Given the description of an element on the screen output the (x, y) to click on. 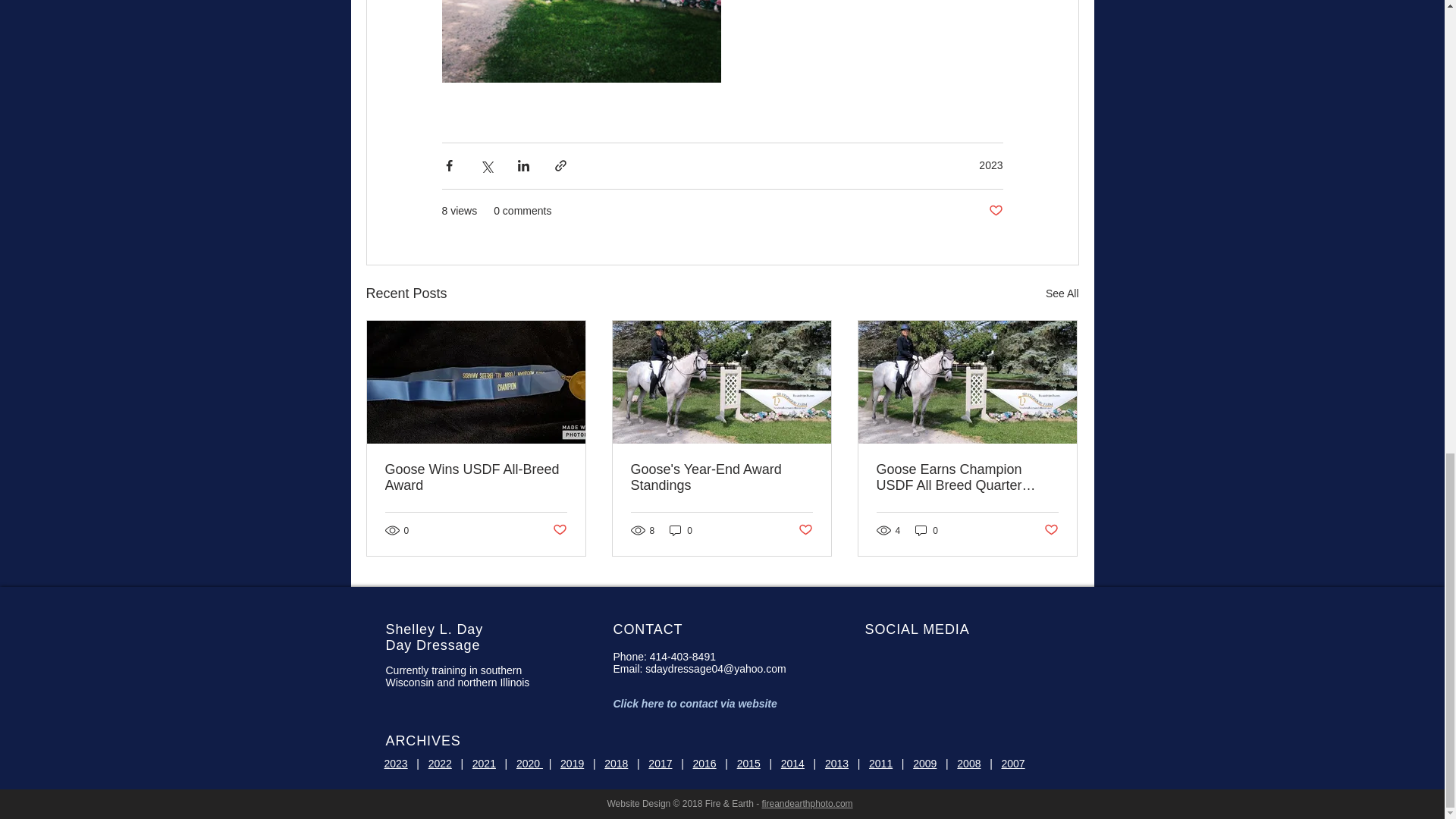
Post not marked as liked (995, 211)
See All (1061, 293)
Goose Wins USDF All-Breed Award (476, 477)
2023 (990, 164)
Post not marked as liked (558, 530)
